Given the description of an element on the screen output the (x, y) to click on. 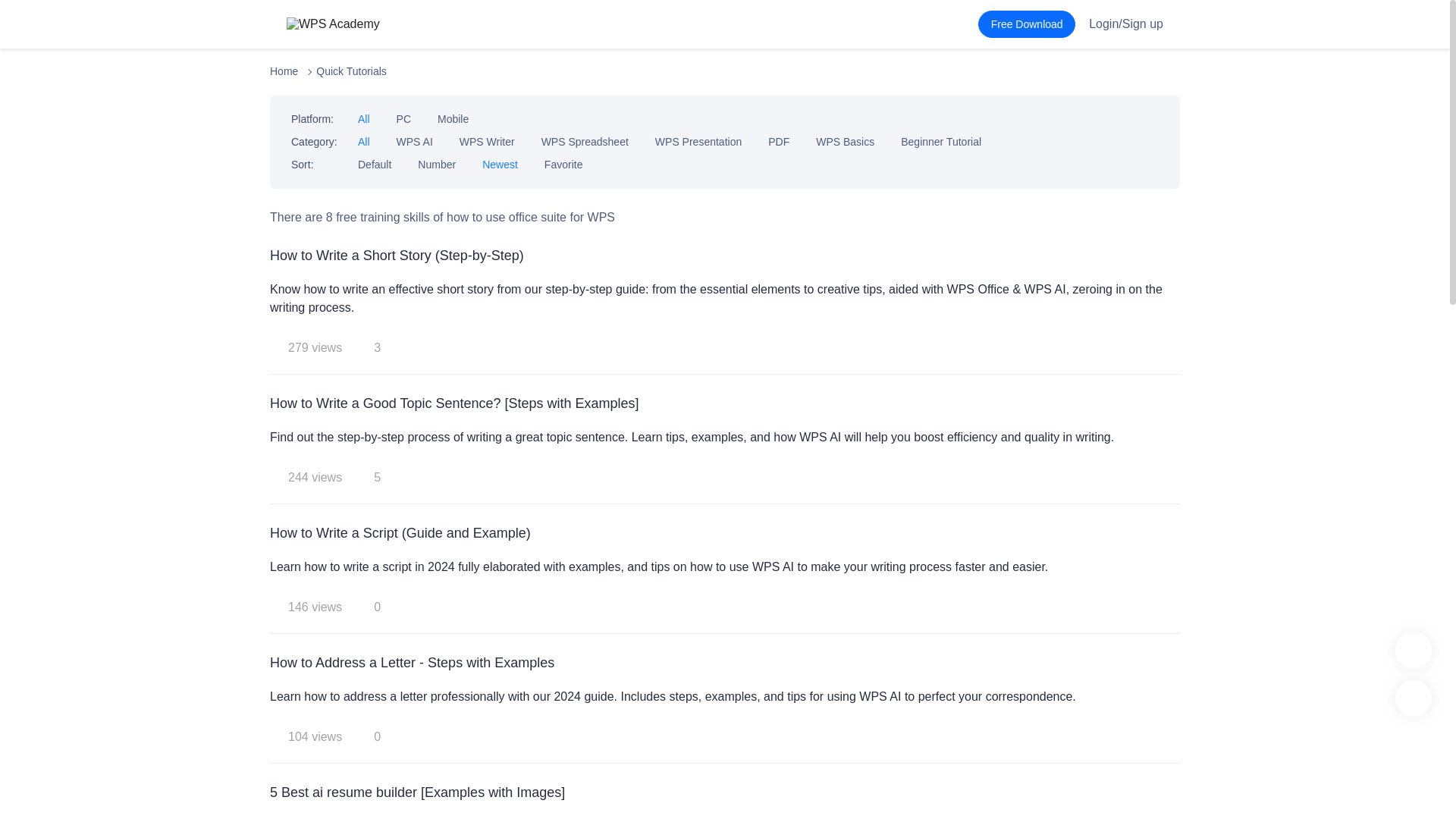
Default (374, 164)
Number (436, 164)
Favorite (563, 164)
Home (283, 71)
WPS Basics (845, 141)
WPS Writer (487, 141)
All (363, 141)
WPS Presentation (698, 141)
WPS AI (414, 141)
